Given the description of an element on the screen output the (x, y) to click on. 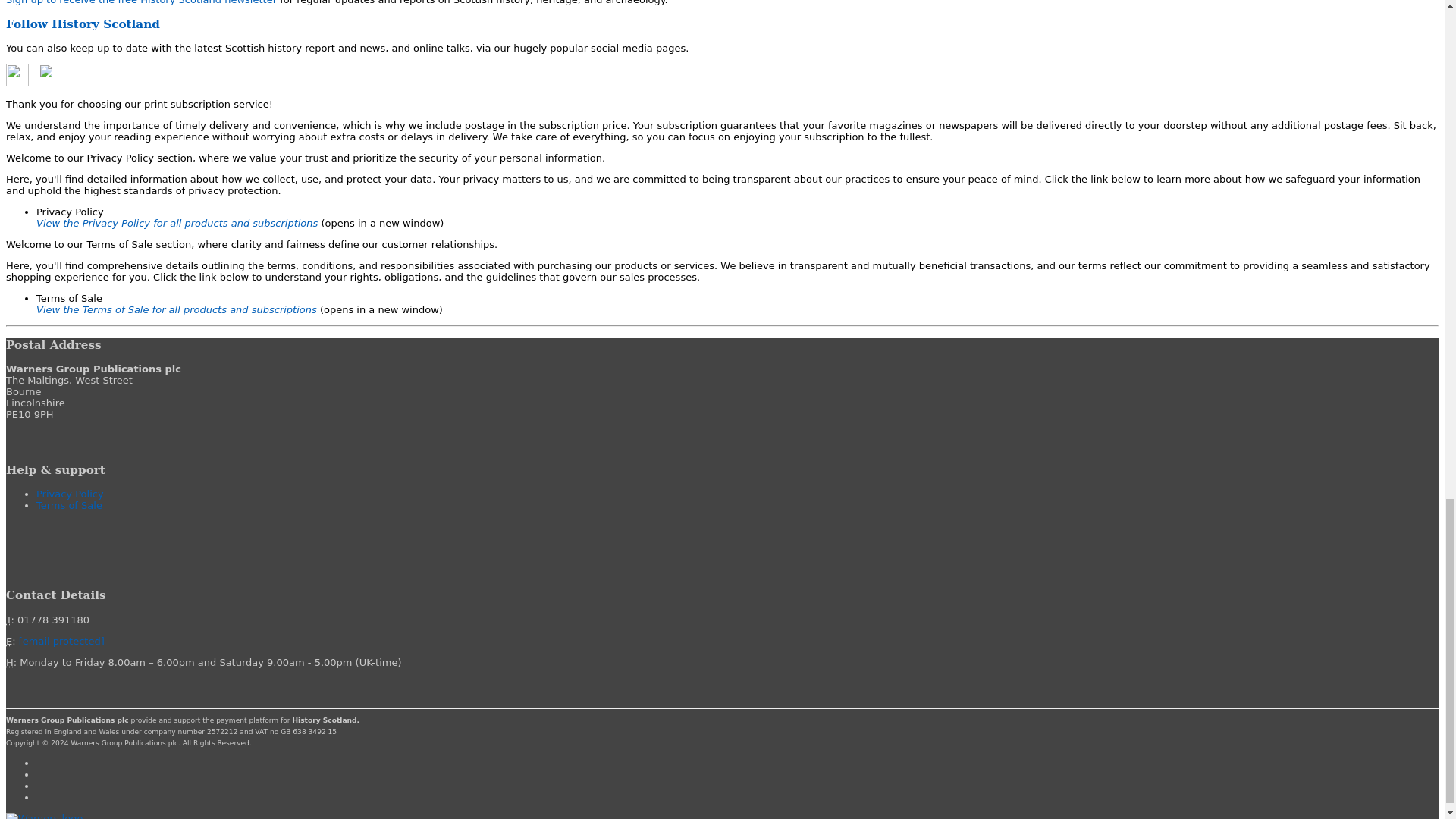
Privacy Policy (69, 493)
View the Terms of Sale for all products and subscriptions (178, 309)
Sign up to receive the free History Scotland newsletter (140, 2)
Terms of Sale (68, 505)
View the Privacy Policy for all products and subscriptions (178, 223)
